Given the description of an element on the screen output the (x, y) to click on. 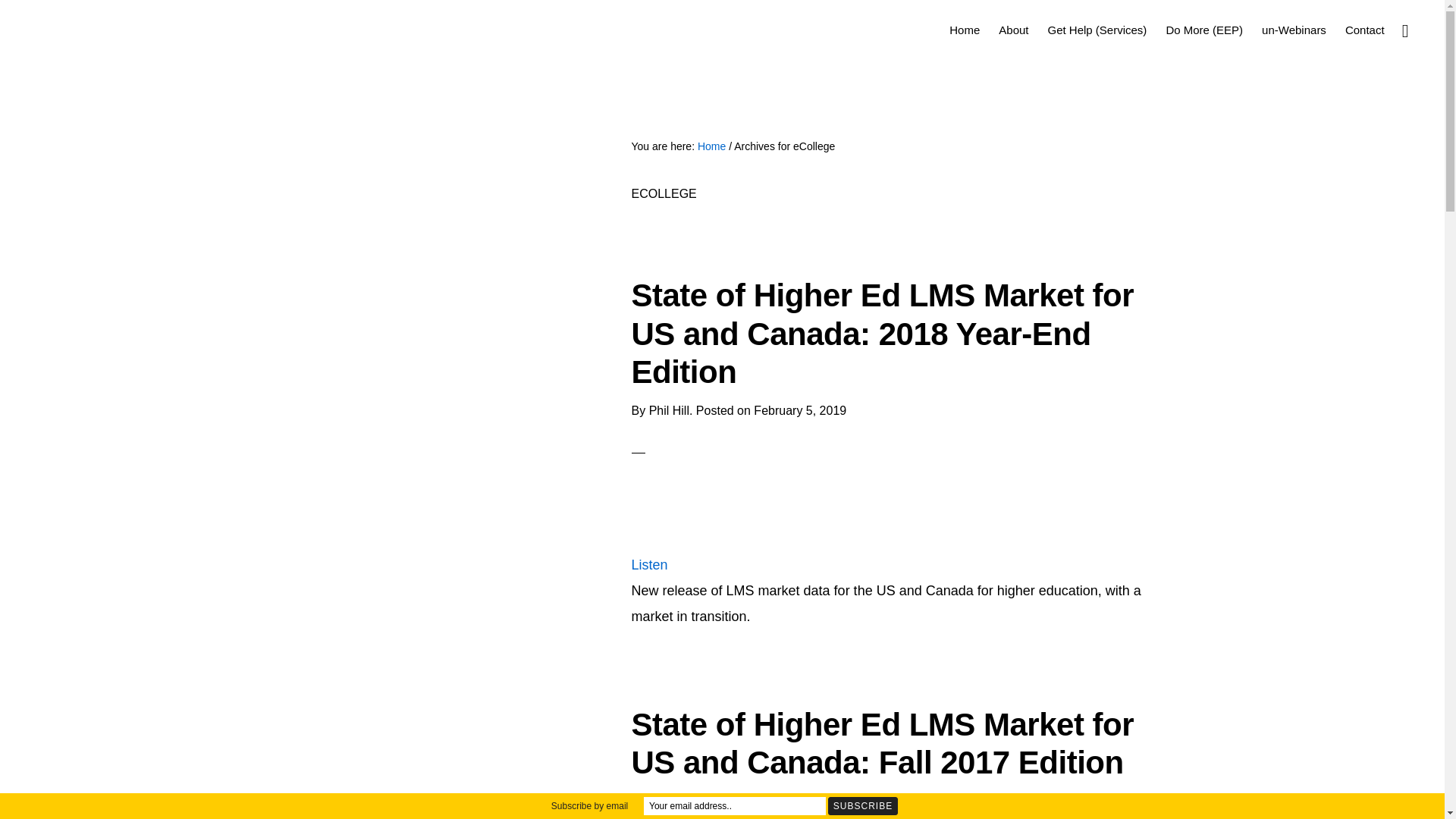
un-Webinars (1293, 29)
Subscribe (863, 805)
Listen (648, 564)
Contact (1364, 29)
Phil Hill (668, 799)
Home (964, 29)
About (1013, 29)
Listen to this page using ReadSpeaker (648, 564)
